Given the description of an element on the screen output the (x, y) to click on. 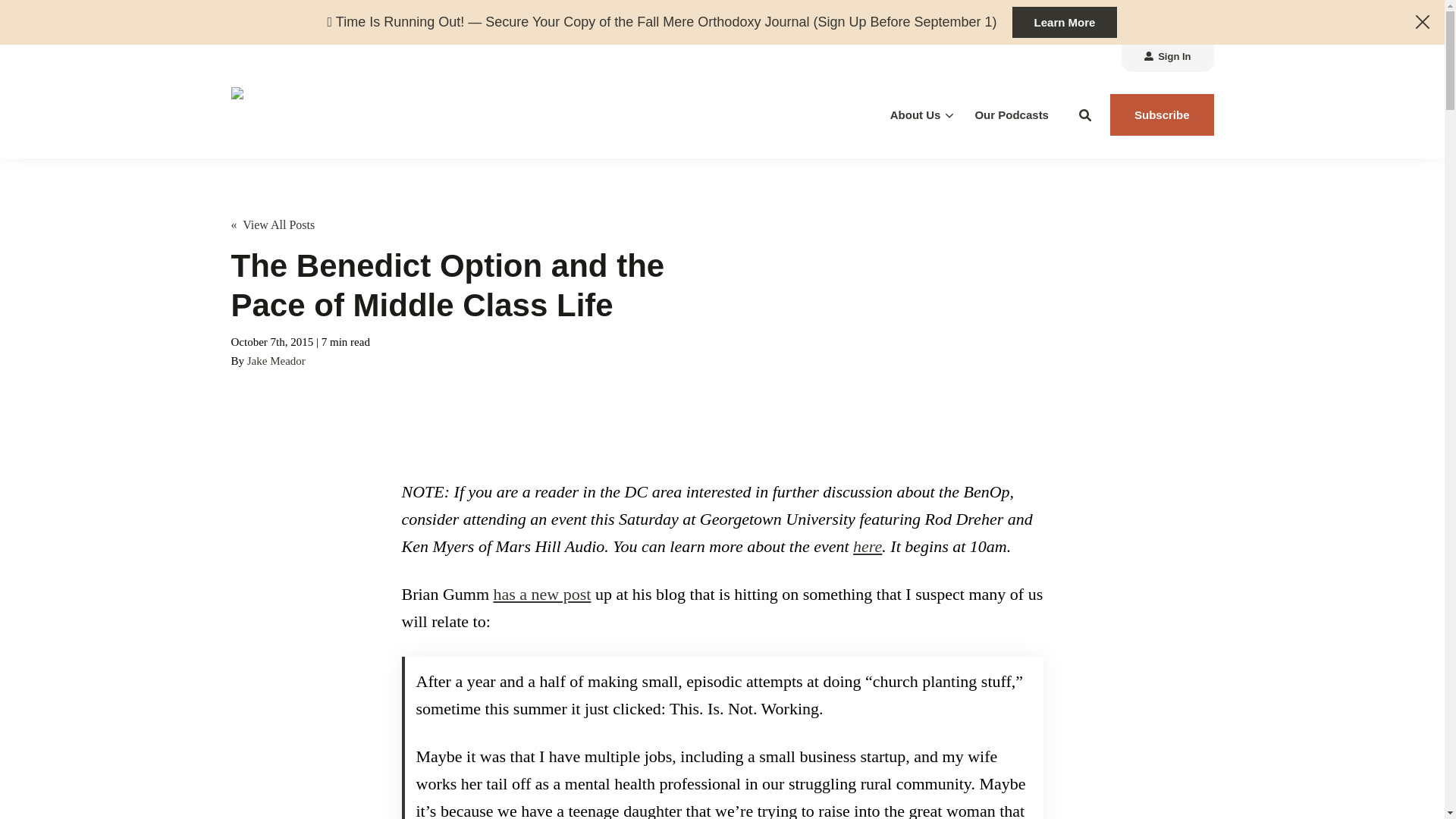
Mere Orthodoxy (337, 114)
Open Search (1085, 114)
Jake Meador (276, 360)
Learn More (1064, 21)
Jake Meador (276, 360)
Subscribe (1161, 114)
Open Search (1085, 114)
Our Podcasts (1010, 114)
has a new post (542, 593)
Sign In (1167, 58)
